Given the description of an element on the screen output the (x, y) to click on. 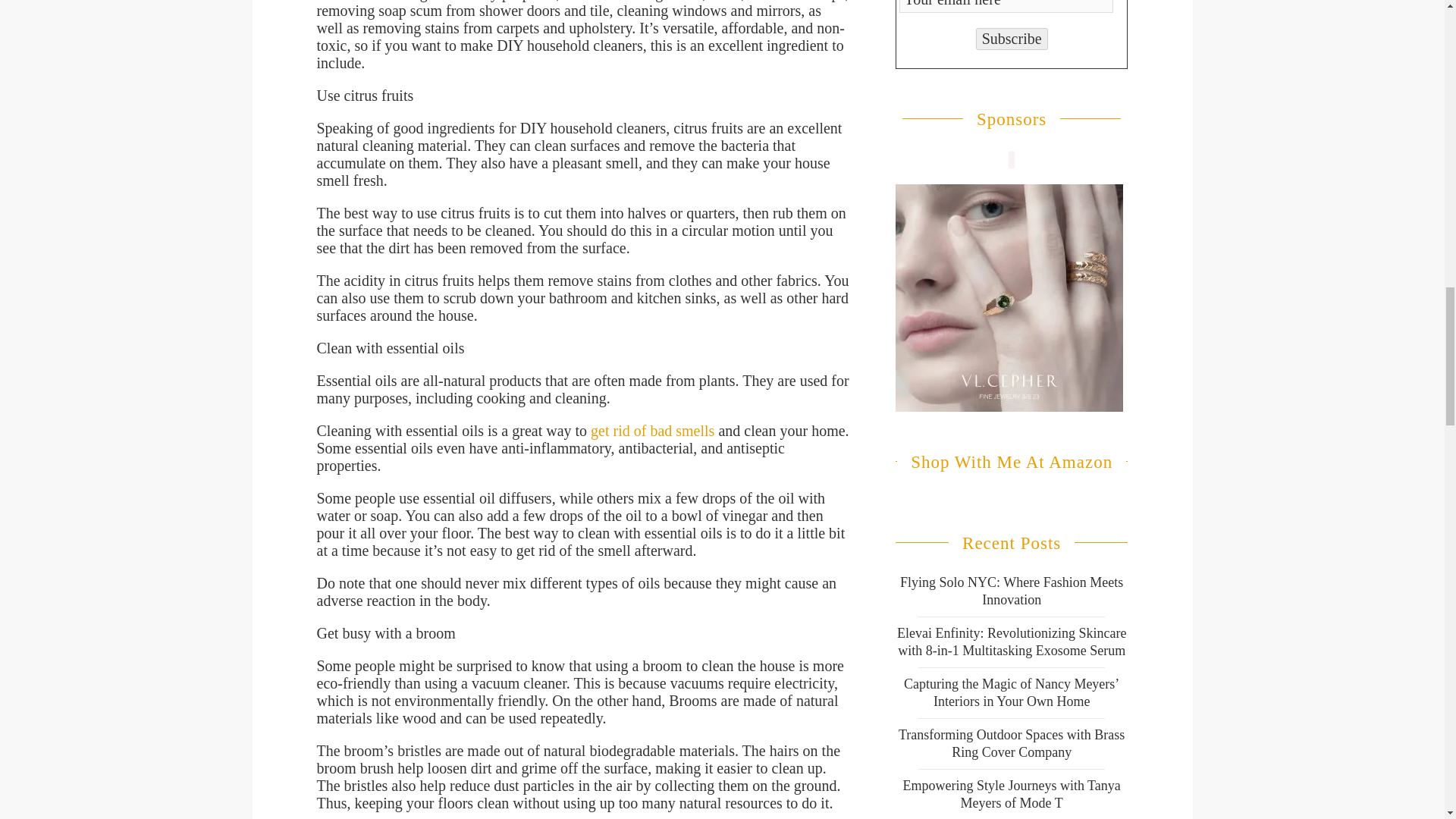
Subscribe (1011, 38)
Your email here (1006, 6)
VL CEPHER (1008, 297)
get rid of bad smells (652, 430)
